Given the description of an element on the screen output the (x, y) to click on. 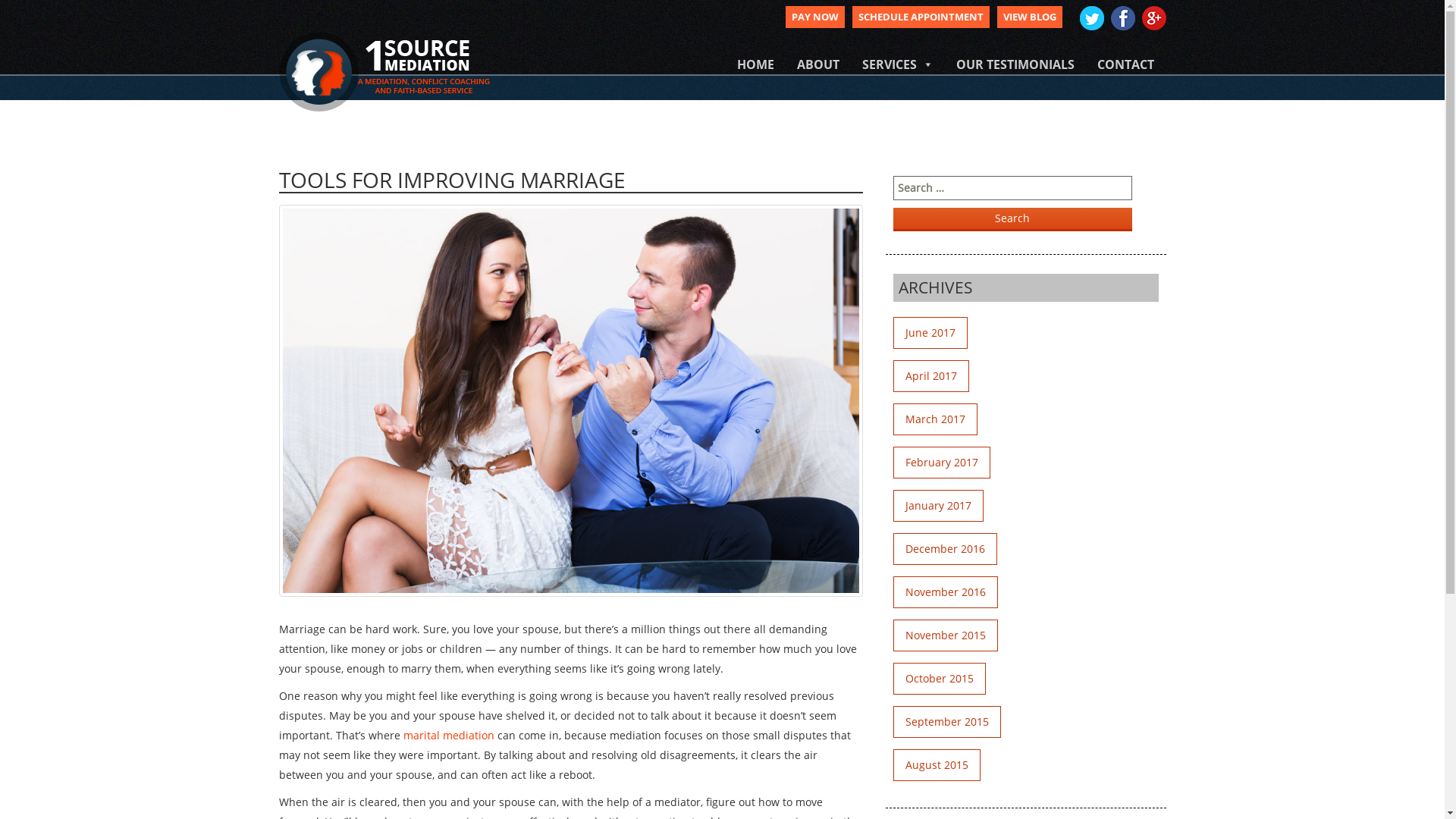
OUR TESTIMONIALS Element type: text (1014, 64)
SCHEDULE APPOINTMENT Element type: text (920, 17)
February 2017 Element type: text (941, 462)
HOME Element type: text (754, 64)
September 2015 Element type: text (947, 721)
PAY NOW Element type: text (814, 17)
October 2015 Element type: text (939, 678)
January 2017 Element type: text (938, 505)
June 2017 Element type: text (930, 332)
marital mediation Element type: text (448, 735)
August 2015 Element type: text (936, 765)
1 Source Mediation Element type: hover (384, 69)
March 2017 Element type: text (935, 419)
Tools For Improving Marriage Element type: hover (570, 400)
November 2015 Element type: text (945, 635)
April 2017 Element type: text (931, 376)
December 2016 Element type: text (945, 548)
CONTACT Element type: text (1125, 64)
Search Element type: text (1012, 219)
November 2016 Element type: text (945, 592)
SERVICES Element type: text (897, 64)
VIEW BLOG Element type: text (1028, 17)
ABOUT Element type: text (817, 64)
